Given the description of an element on the screen output the (x, y) to click on. 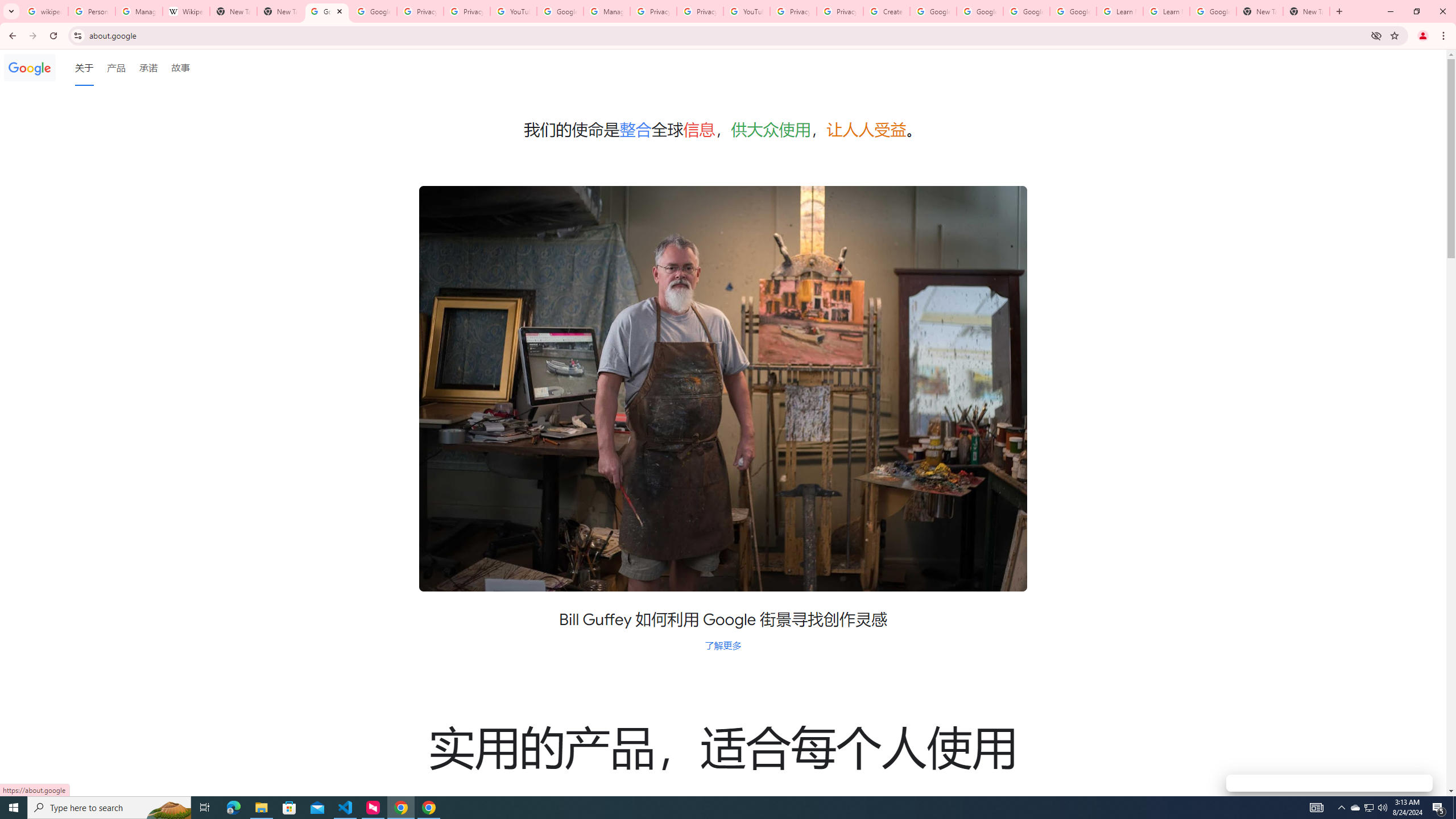
Wikipedia:Edit requests - Wikipedia (186, 11)
Google Account Help (933, 11)
Personalization & Google Search results - Google Search Help (91, 11)
New Tab (1259, 11)
